Given the description of an element on the screen output the (x, y) to click on. 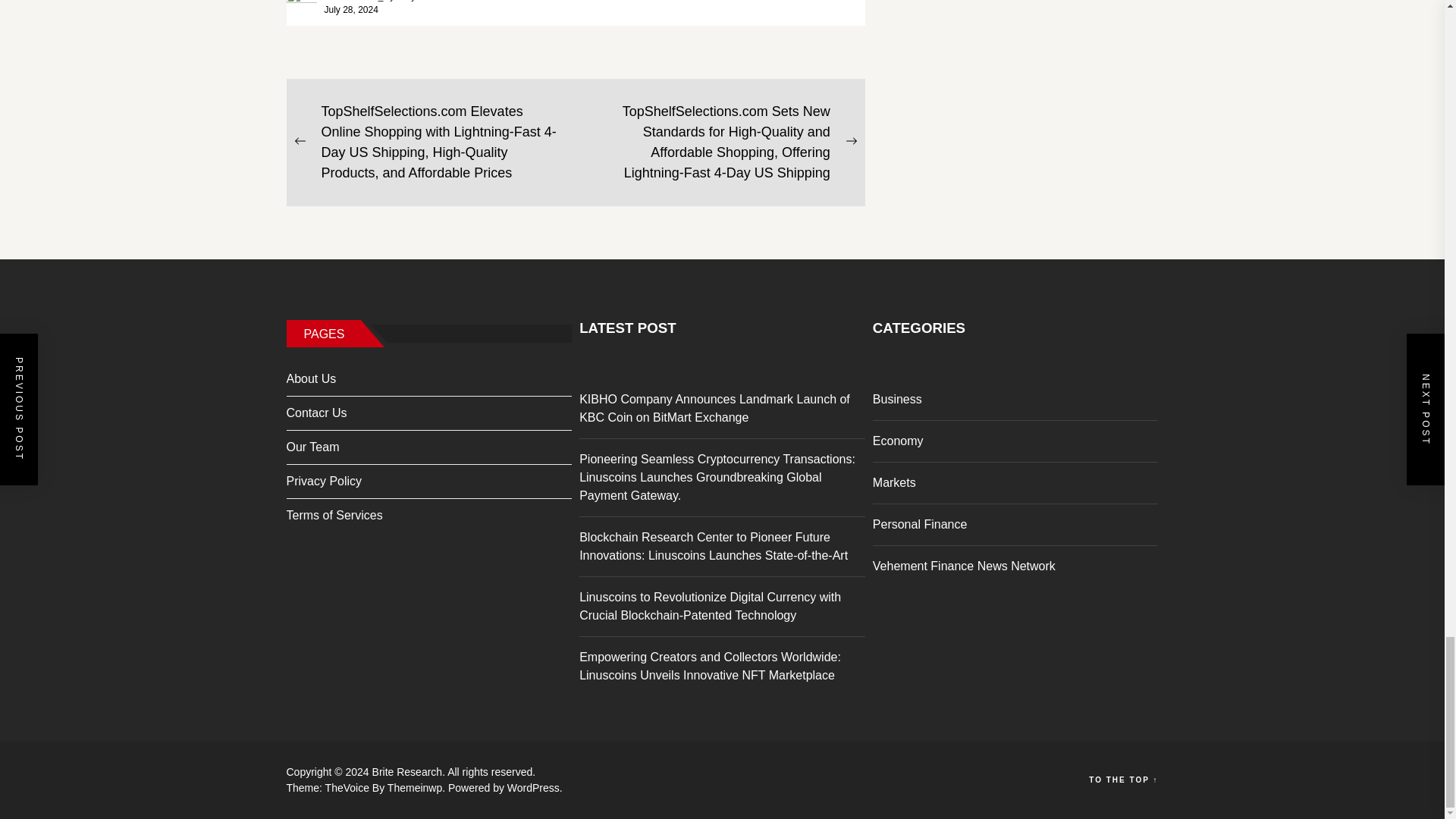
WordPress (534, 787)
Brite Research (410, 771)
Themeinwp (417, 787)
